Given the description of an element on the screen output the (x, y) to click on. 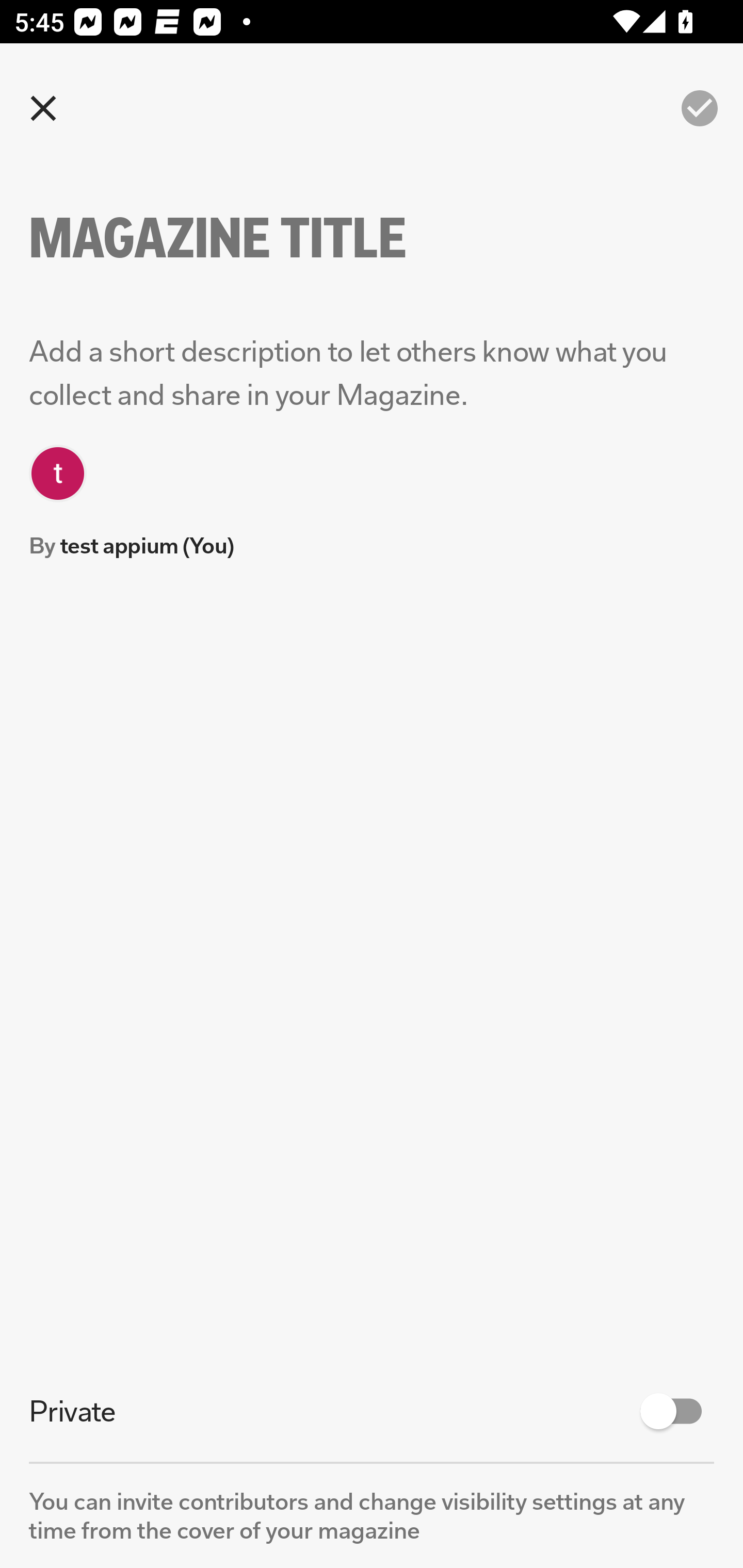
MAGAZINE TITLE (252, 238)
Private (371, 1411)
